Given the description of an element on the screen output the (x, y) to click on. 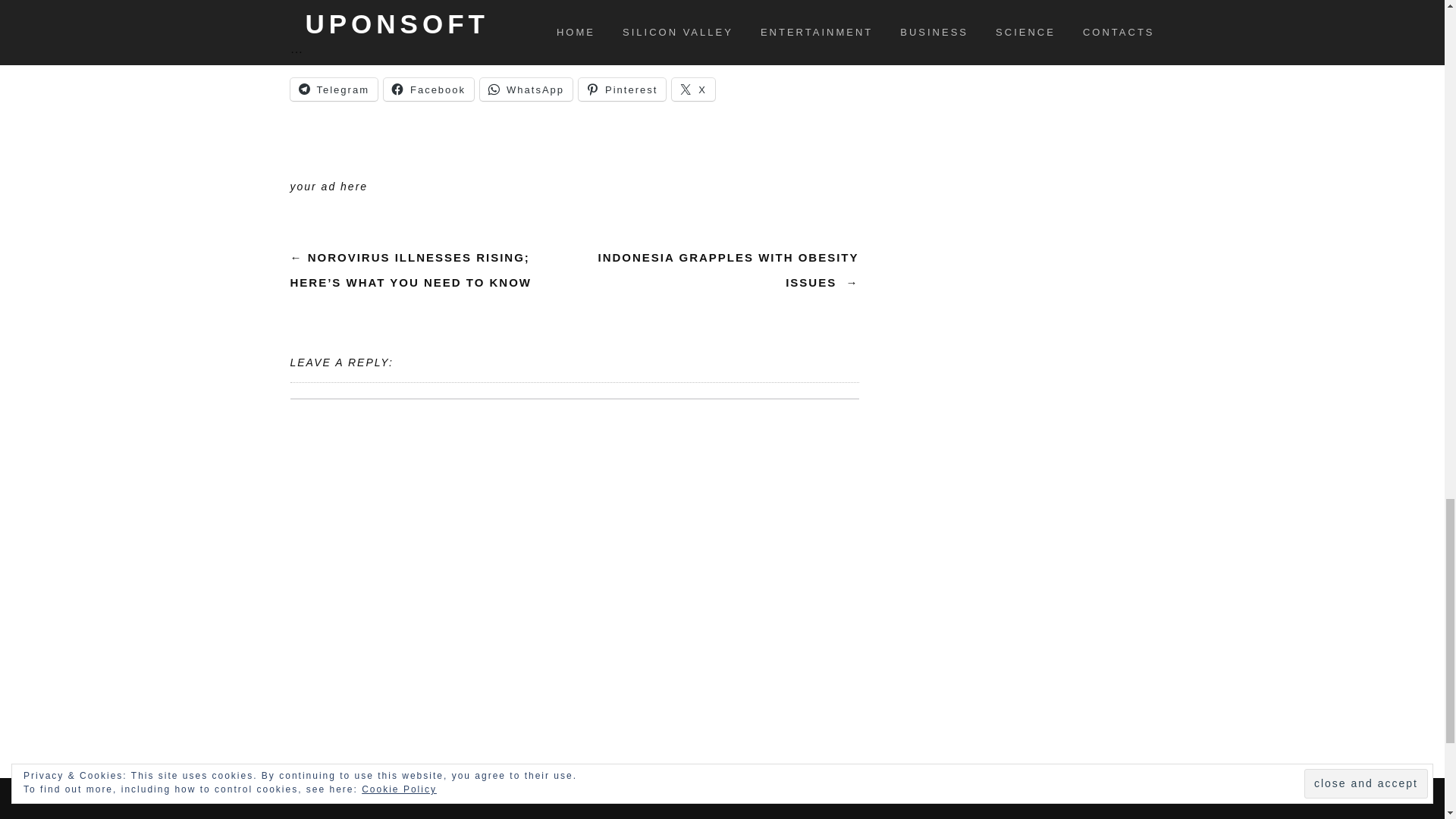
Click to share on Facebook (429, 88)
Pinterest (621, 88)
Click to share on X (692, 88)
WhatsApp (526, 88)
Telegram (333, 88)
Click to share on Pinterest (621, 88)
Click to share on Telegram (333, 88)
X (692, 88)
Click to share on WhatsApp (526, 88)
